Given the description of an element on the screen output the (x, y) to click on. 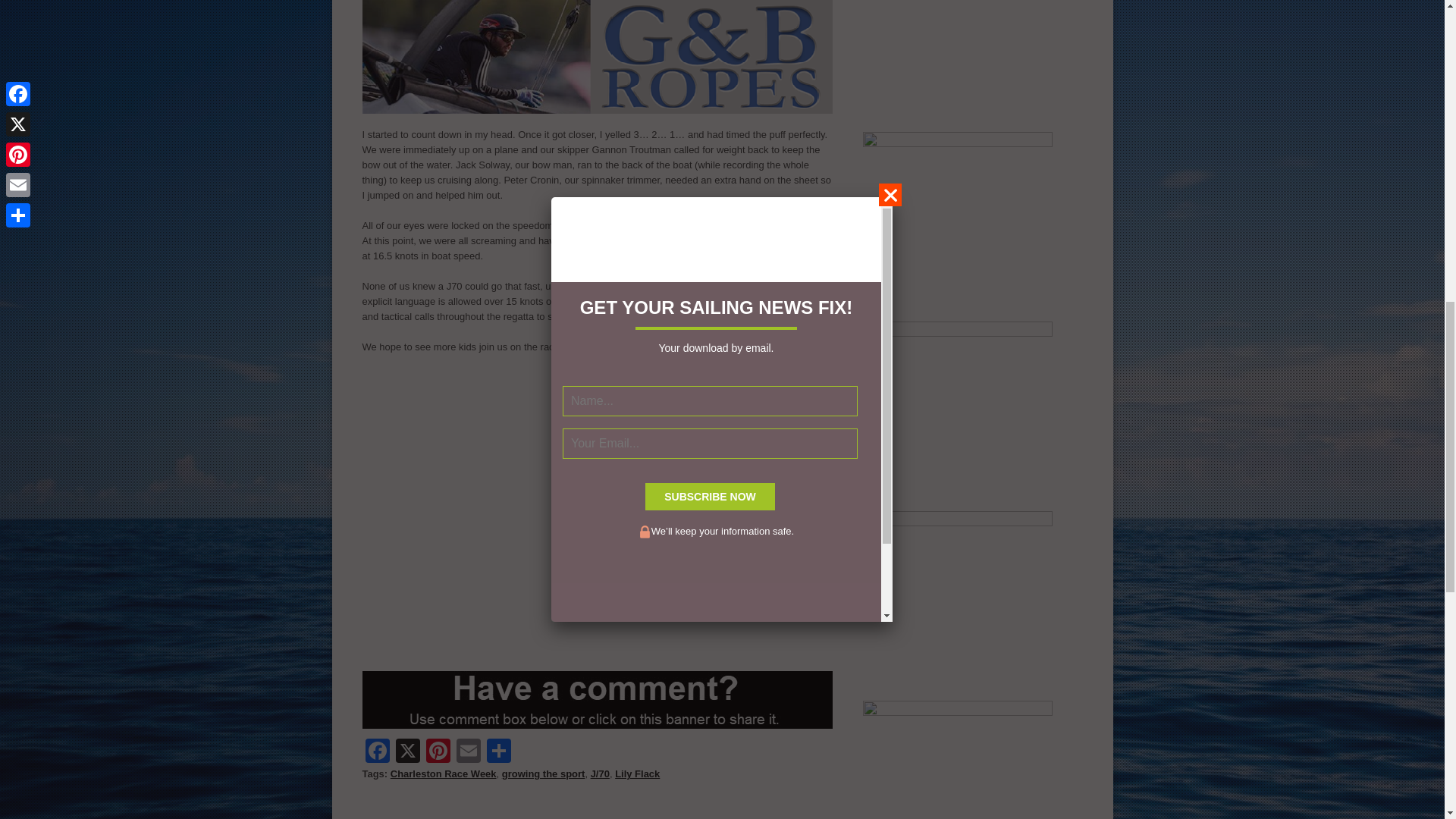
Facebook (377, 752)
Email (467, 752)
Email (467, 752)
X (408, 752)
growing the sport (543, 773)
Lily Flack (636, 773)
Pinterest (437, 752)
Facebook (377, 752)
Share (498, 752)
Charleston Race Week (443, 773)
Pinterest (437, 752)
X (408, 752)
